Given the description of an element on the screen output the (x, y) to click on. 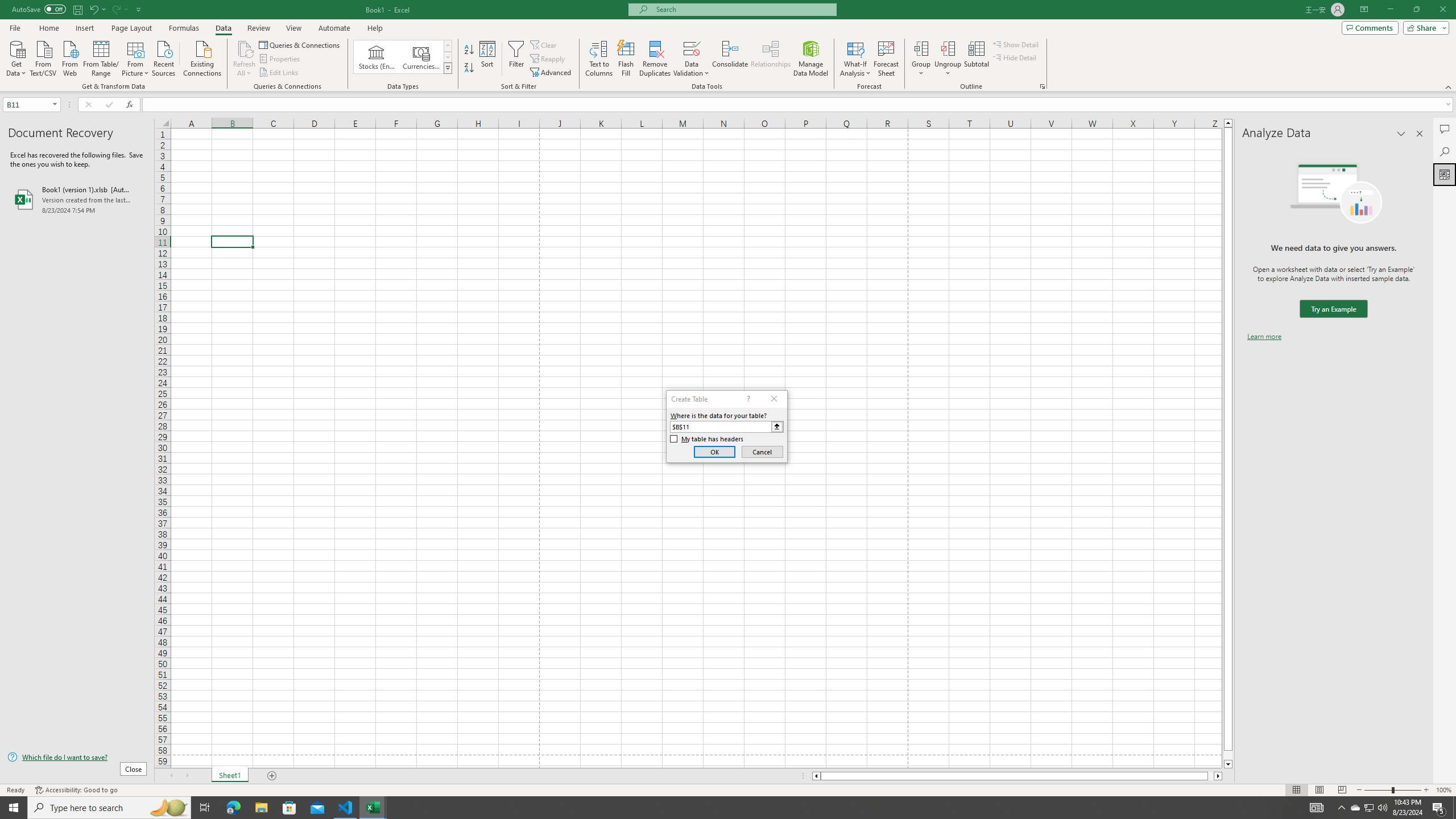
Hide Detail (1014, 56)
Text to Columns... (598, 58)
Advanced... (551, 72)
Microsoft search (742, 9)
Clear (544, 44)
Sort... (487, 58)
Data Validation... (691, 48)
Refresh All (244, 58)
Automate (334, 28)
Group... (921, 48)
Search (1444, 151)
